Given the description of an element on the screen output the (x, y) to click on. 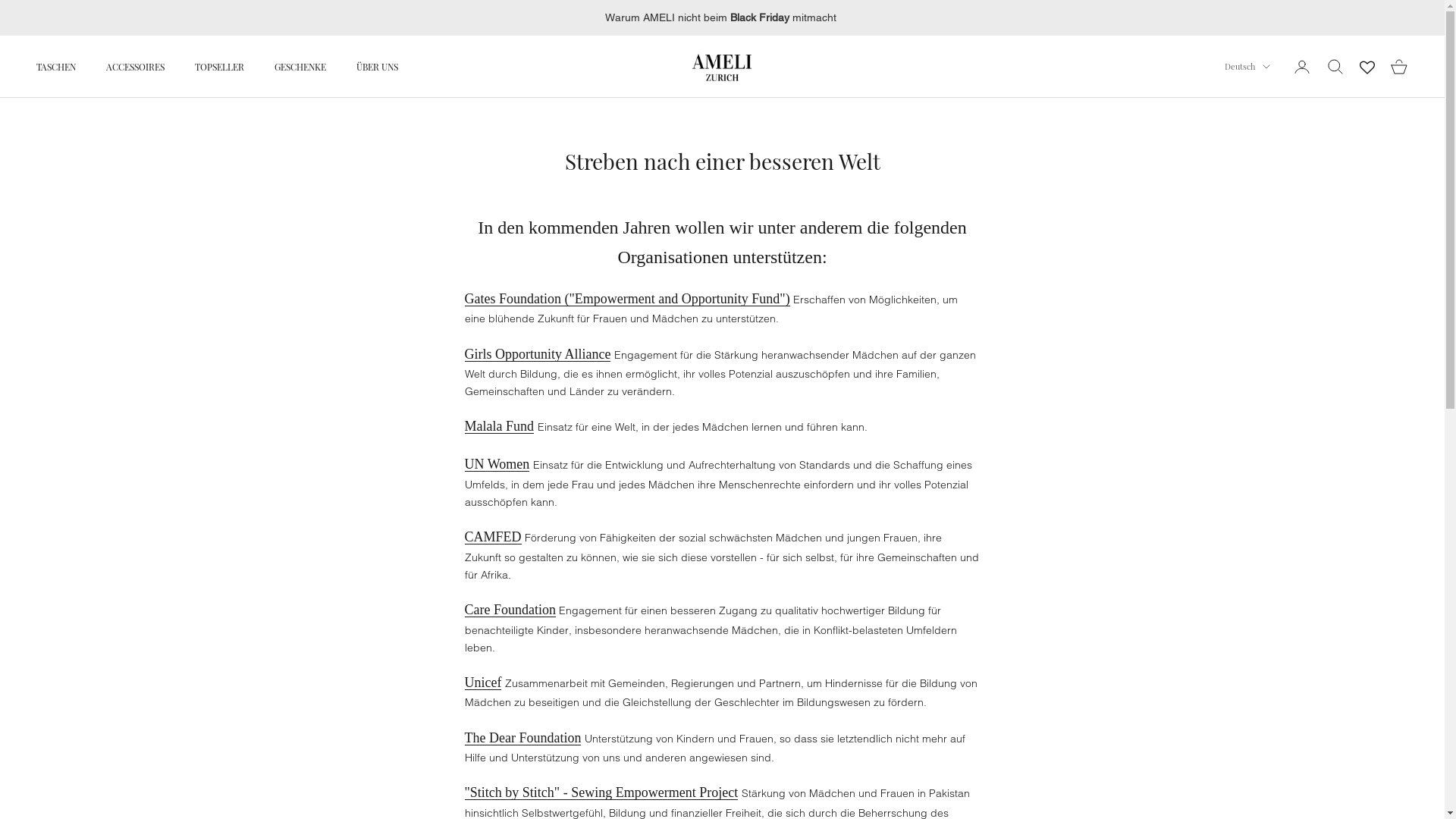
Girls Opportunity Alliance Element type: text (537, 353)
Gates Foundation ("Empowerment and Opportunity Fund") Element type: text (626, 298)
The Dear Foundation Element type: text (522, 736)
"Stitch by Stitch" - Sewing Empowerment Project Element type: text (600, 792)
AMELI ZURICH SWITZERLAND Element type: text (722, 66)
Unicef Element type: text (482, 682)
TOPSELLER Element type: text (219, 66)
Warum AMELI nicht beim Black Friday mitmacht Element type: text (722, 17)
UN Women Element type: text (496, 463)
Malala Fund Element type: text (498, 425)
CAMFED Element type: text (492, 536)
Deutsch Element type: text (1247, 66)
Care Foundation Element type: text (509, 609)
